Given the description of an element on the screen output the (x, y) to click on. 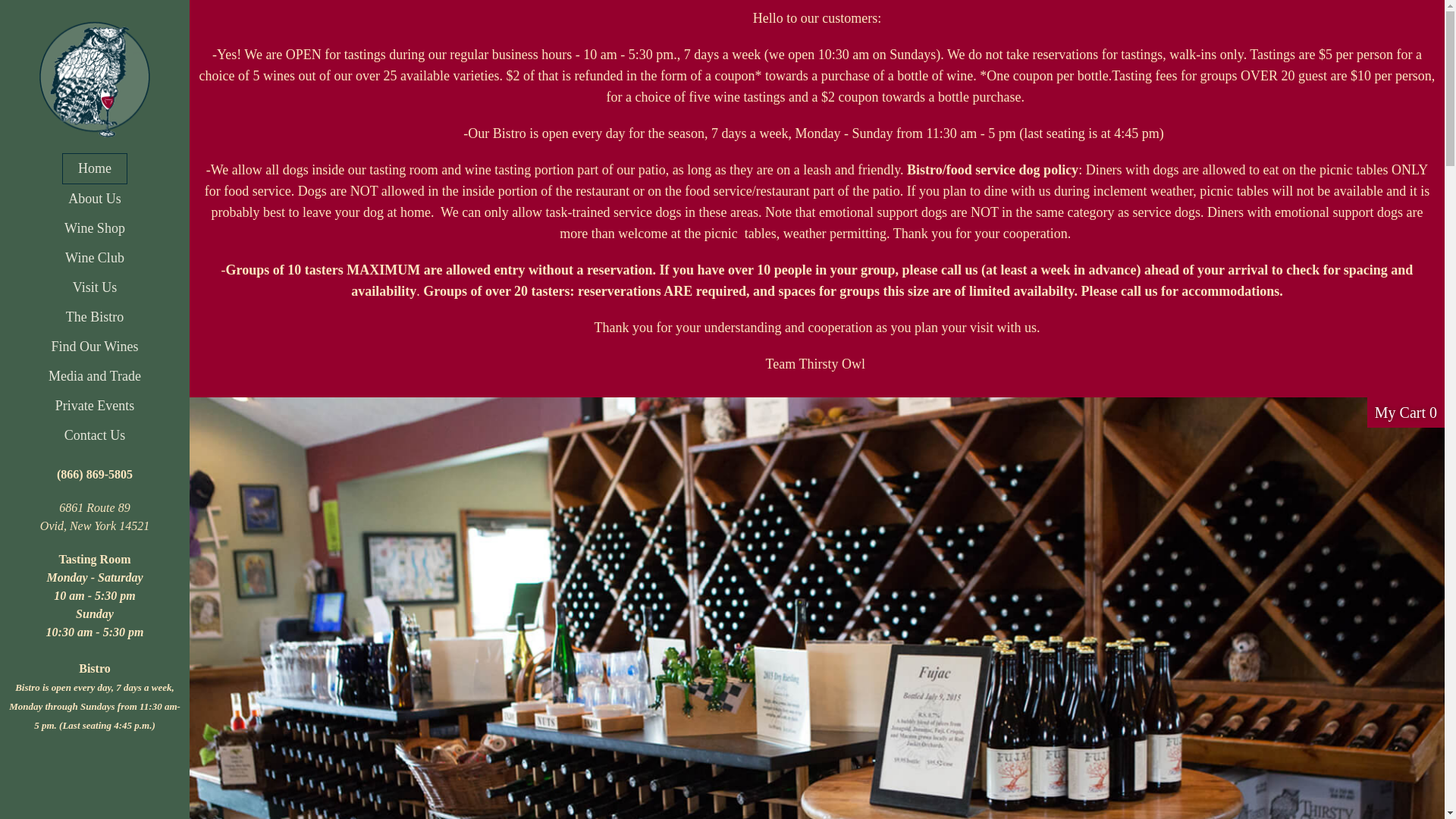
About Us (94, 198)
Wine Club (94, 257)
Contact Us (95, 435)
Private Events (94, 405)
Wine Shop (94, 228)
Home (95, 168)
The Bistro (94, 317)
Media and Trade (94, 376)
Visit Us (95, 287)
Find Our Wines (95, 346)
